Given the description of an element on the screen output the (x, y) to click on. 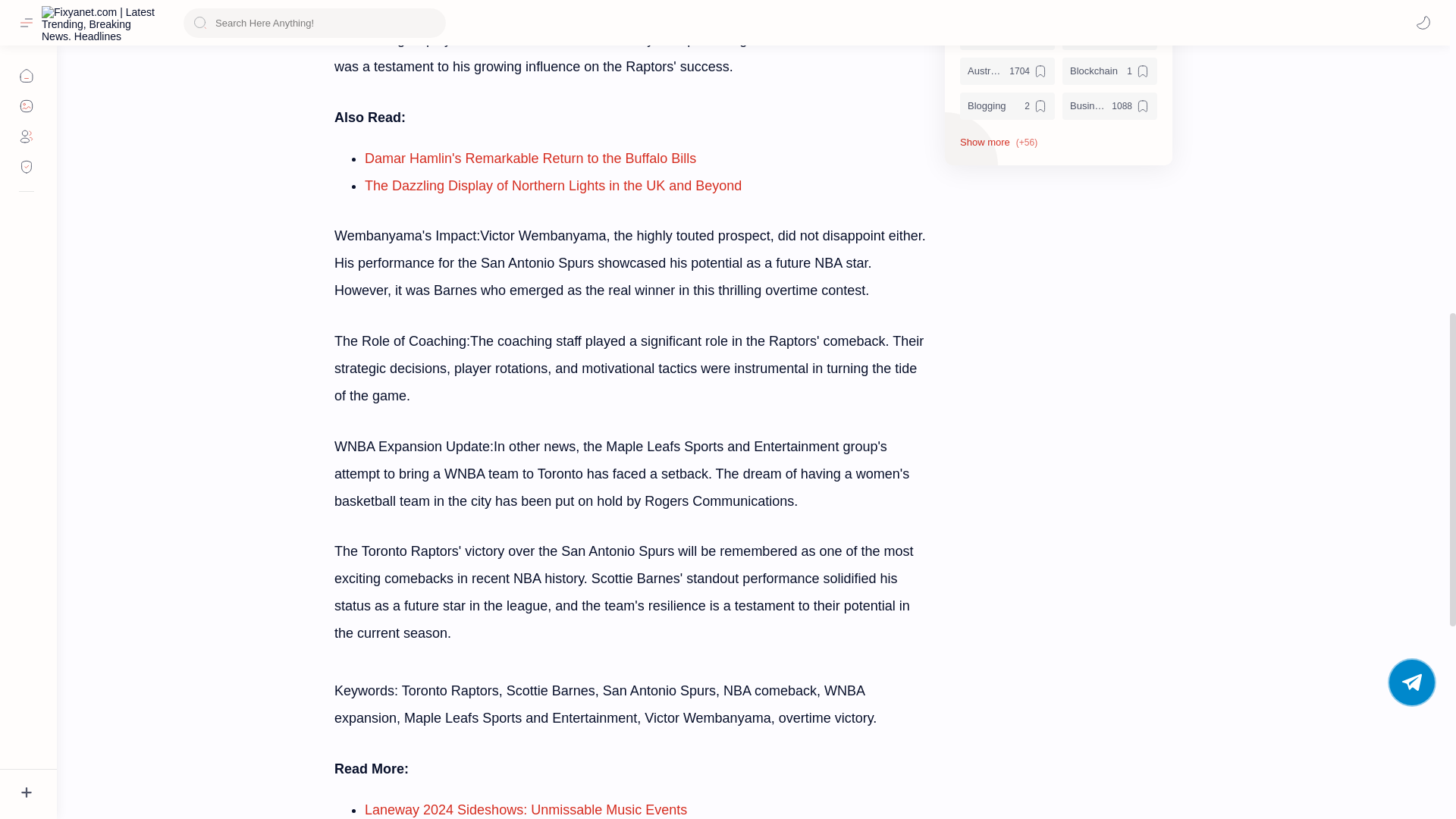
Damar Hamlin's Remarkable Return to the Buffalo Bills (530, 158)
The Dazzling Display of Northern Lights in the UK and Beyond (553, 185)
Laneway 2024 Sideshows: Unmissable Music Events (526, 809)
